Given the description of an element on the screen output the (x, y) to click on. 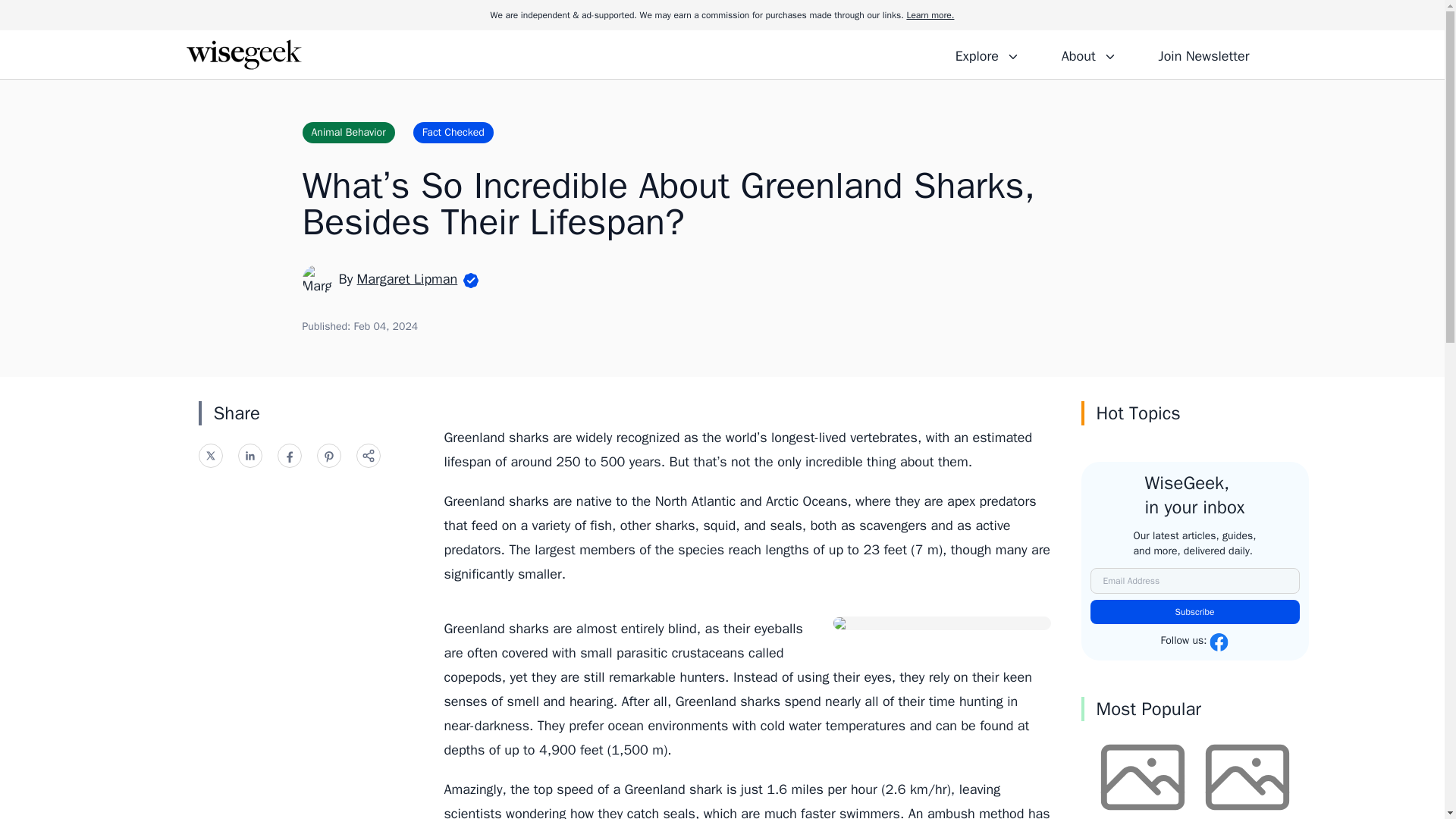
Learn more. (929, 15)
Follow us: (1194, 642)
Join Newsletter (1202, 54)
About (1088, 54)
Explore (986, 54)
Fact Checked (453, 132)
Margaret Lipman (407, 279)
Animal Behavior (347, 132)
Subscribe (1195, 611)
